Given the description of an element on the screen output the (x, y) to click on. 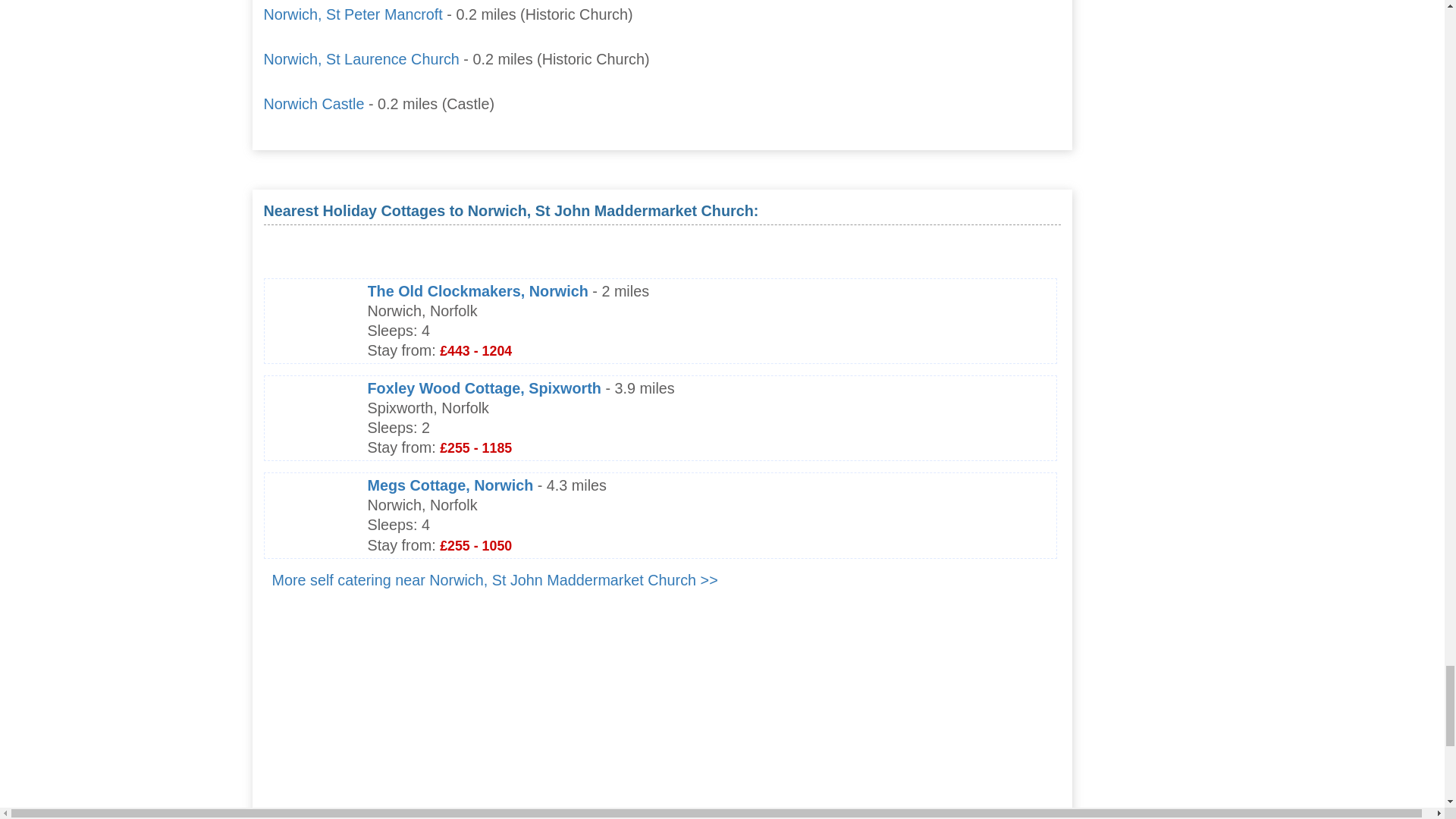
Norwich, St Laurence Church, Historic Church (361, 58)
